Given the description of an element on the screen output the (x, y) to click on. 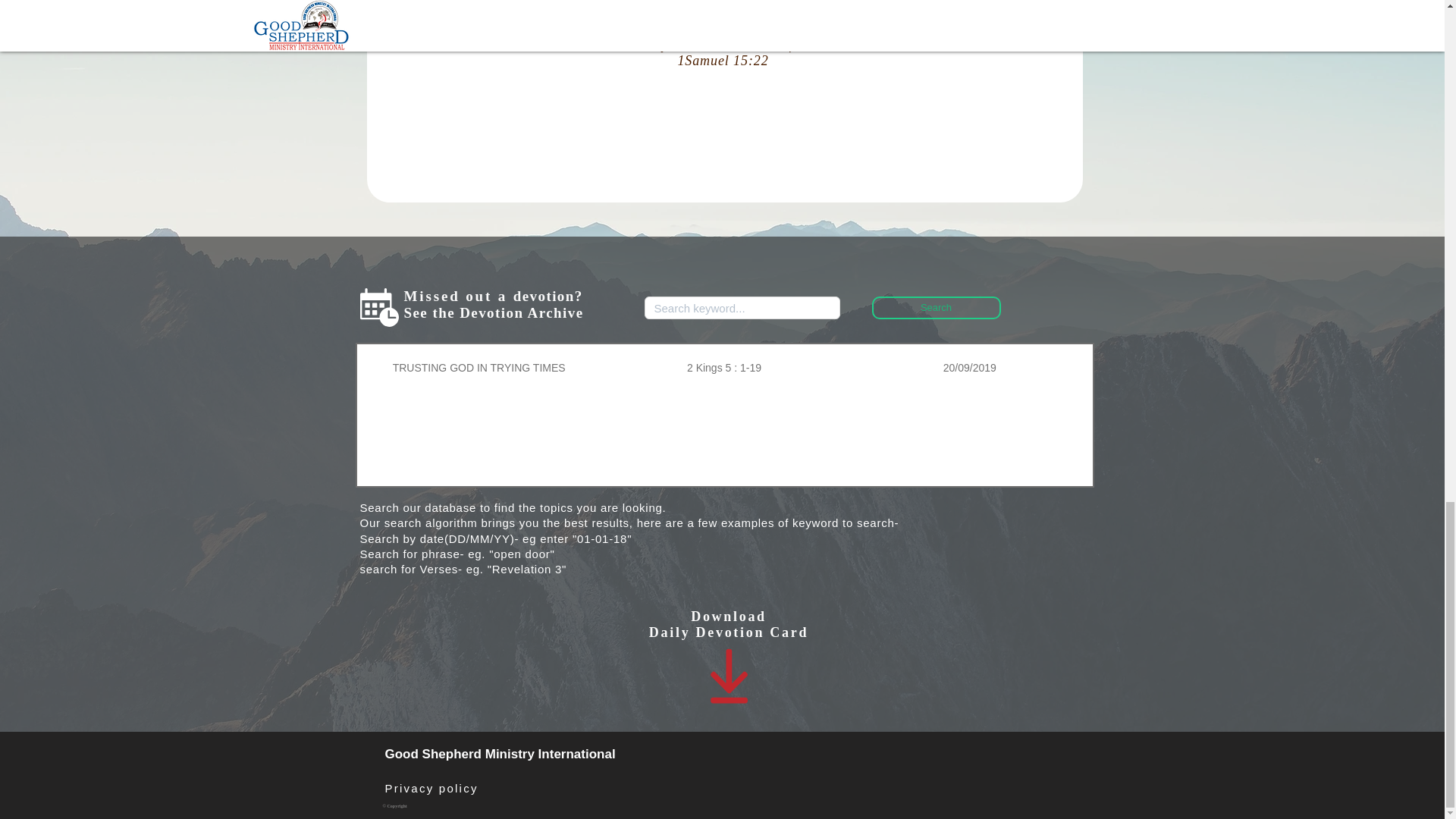
2 Kings 5 : 1-19 (723, 368)
TRUSTING GOD IN TRYING TIMES (477, 368)
Privacy policy (432, 788)
